Given the description of an element on the screen output the (x, y) to click on. 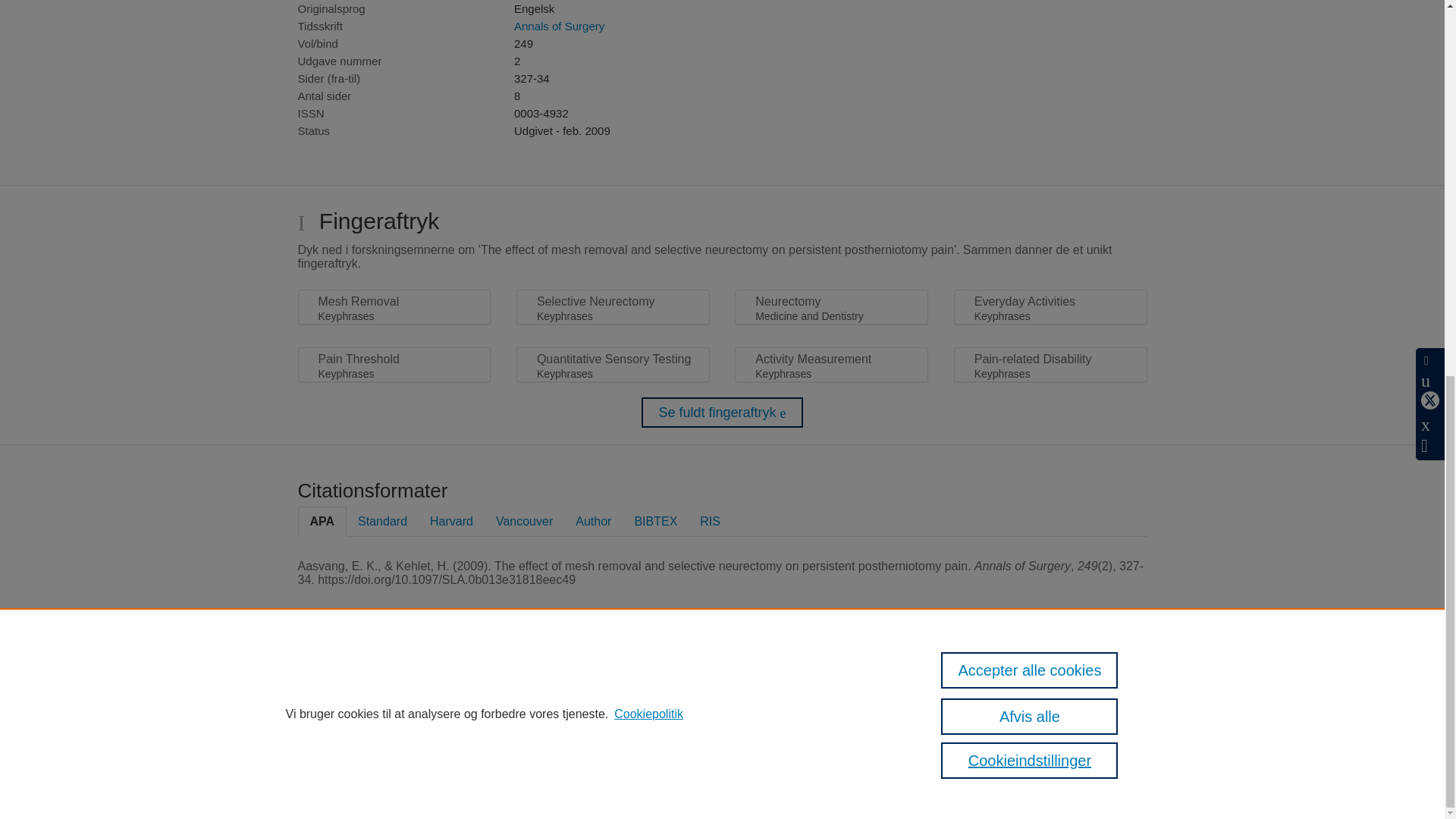
Annals of Surgery (558, 25)
Se fuldt fingeraftryk (722, 412)
Pure (490, 685)
Elsevier B.V. (673, 706)
Scopus (522, 685)
